Given the description of an element on the screen output the (x, y) to click on. 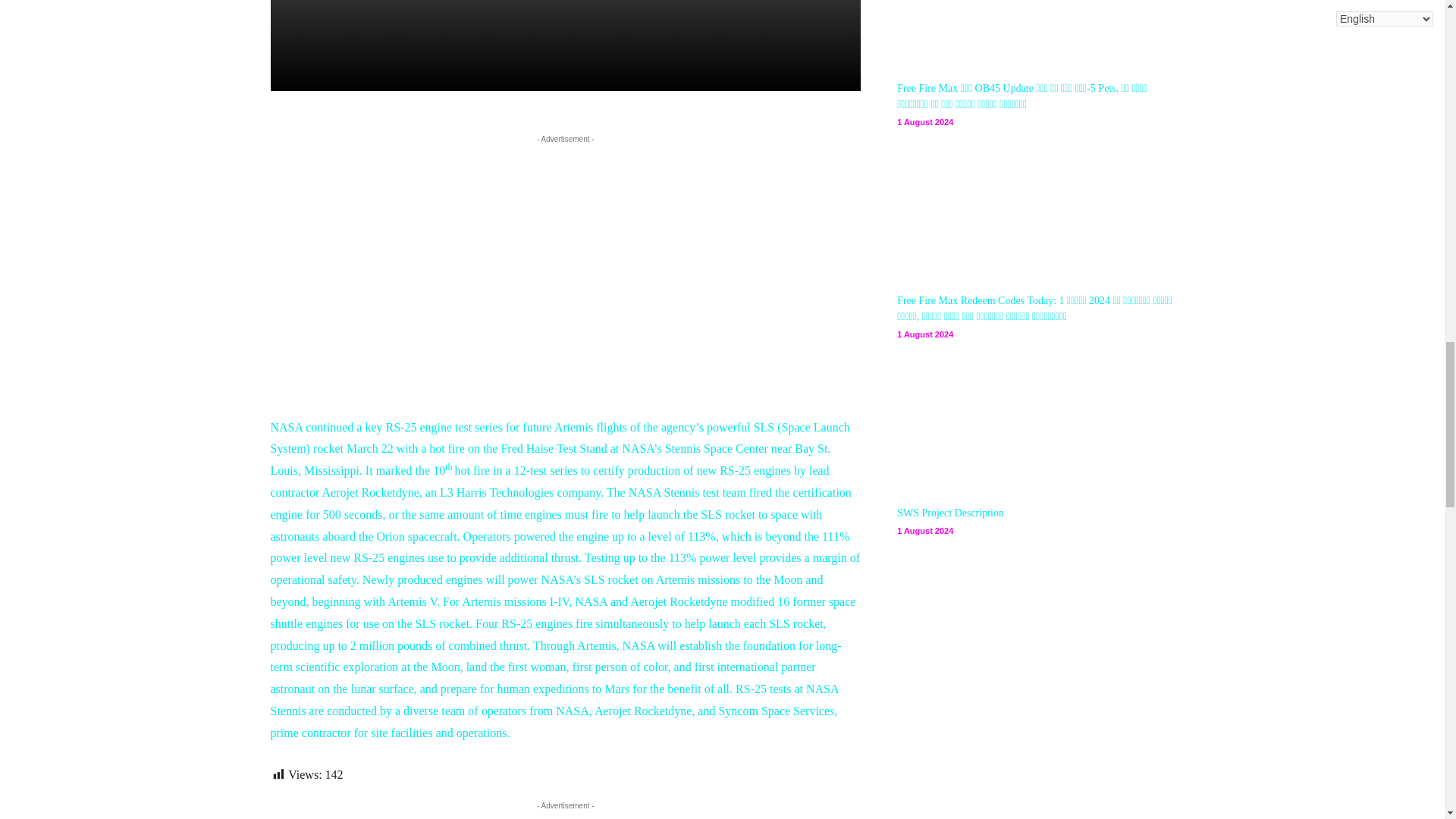
Advertisement (566, 253)
